Given the description of an element on the screen output the (x, y) to click on. 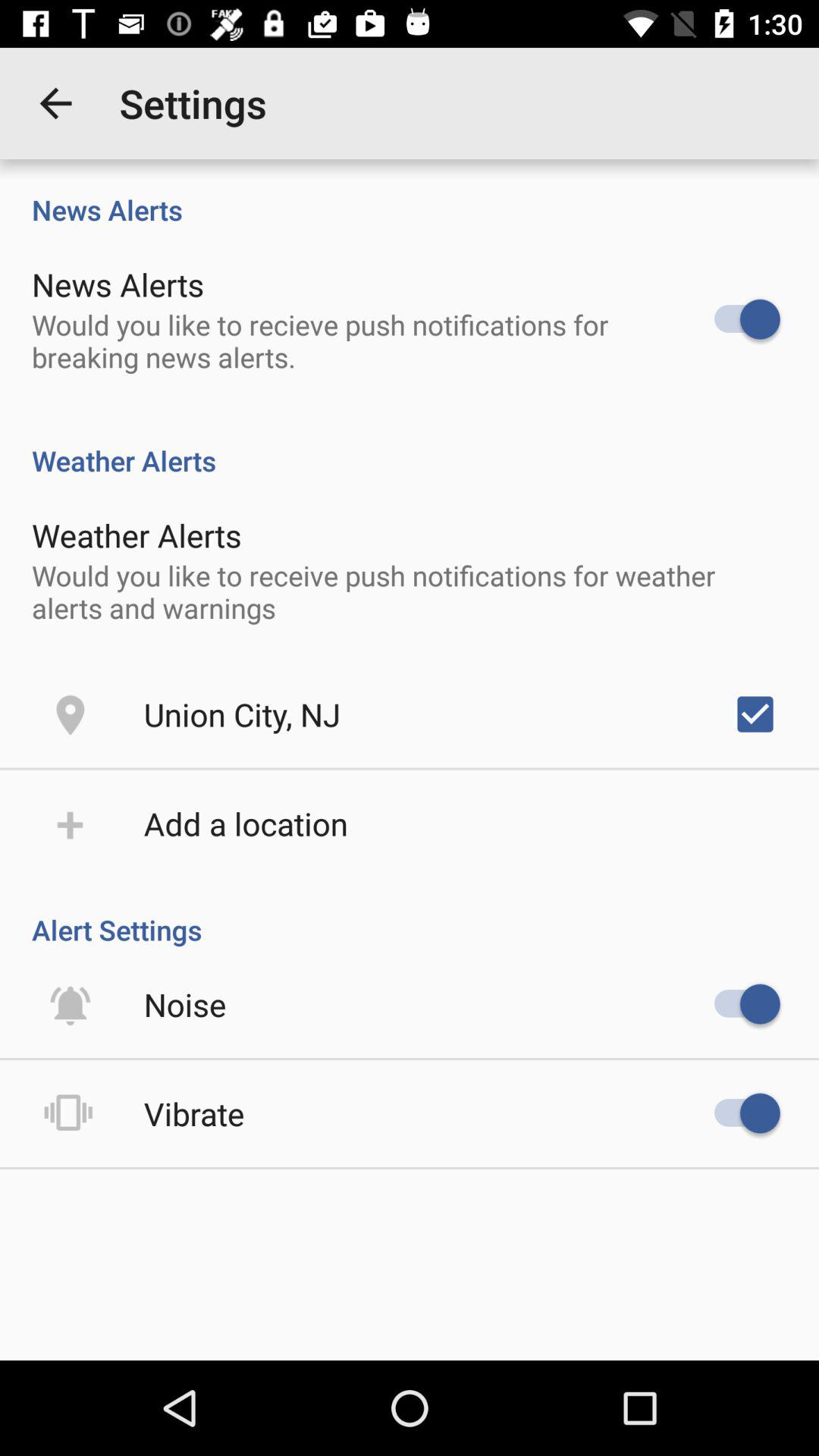
turn on the icon to the left of settings (55, 103)
